Given the description of an element on the screen output the (x, y) to click on. 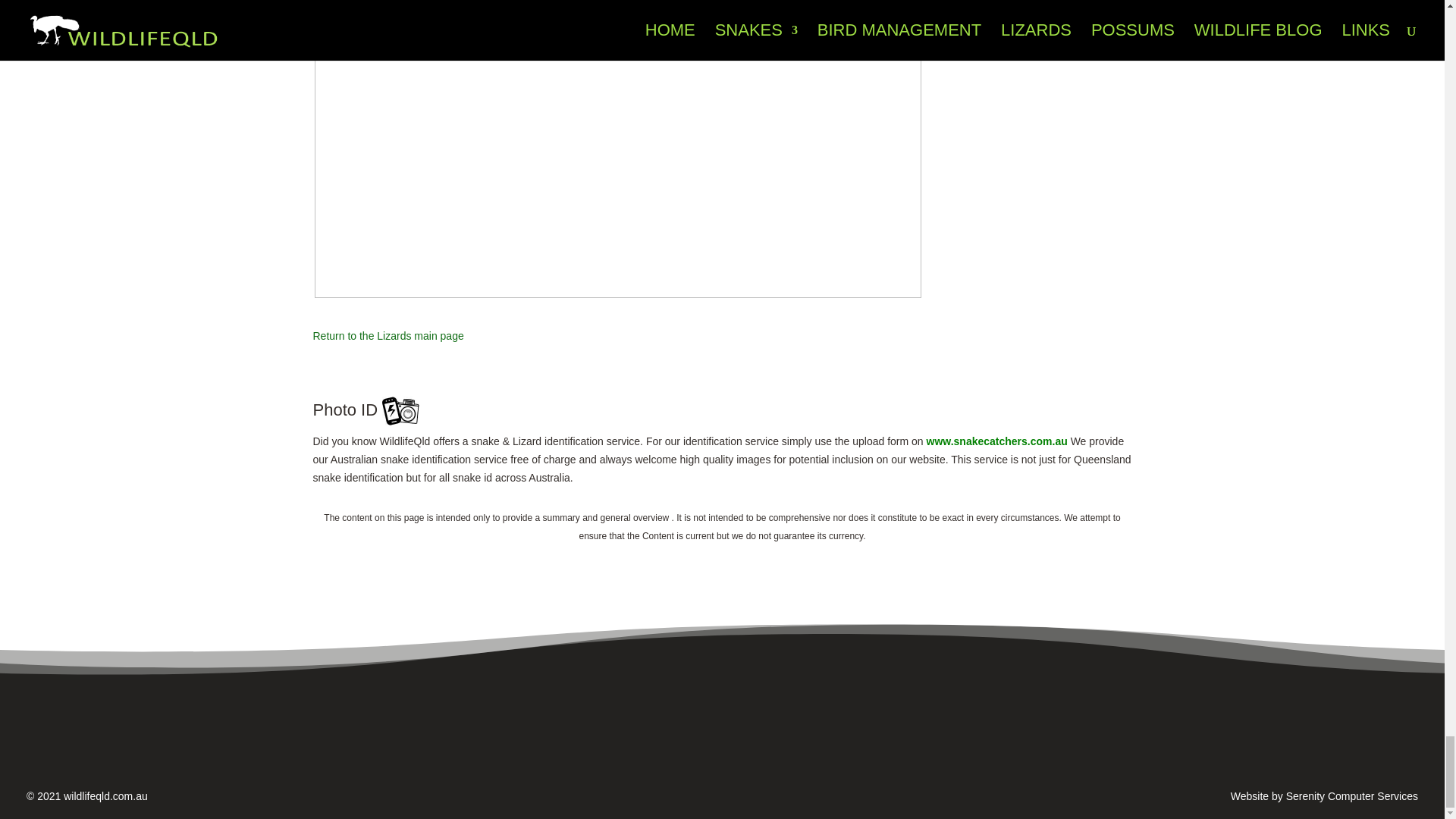
Serenity Computer Services (1351, 796)
back to Lizards (388, 336)
Return to the Lizards main page (388, 336)
Photo ID (996, 440)
www.snakecatchers.com.au (996, 440)
